Given the description of an element on the screen output the (x, y) to click on. 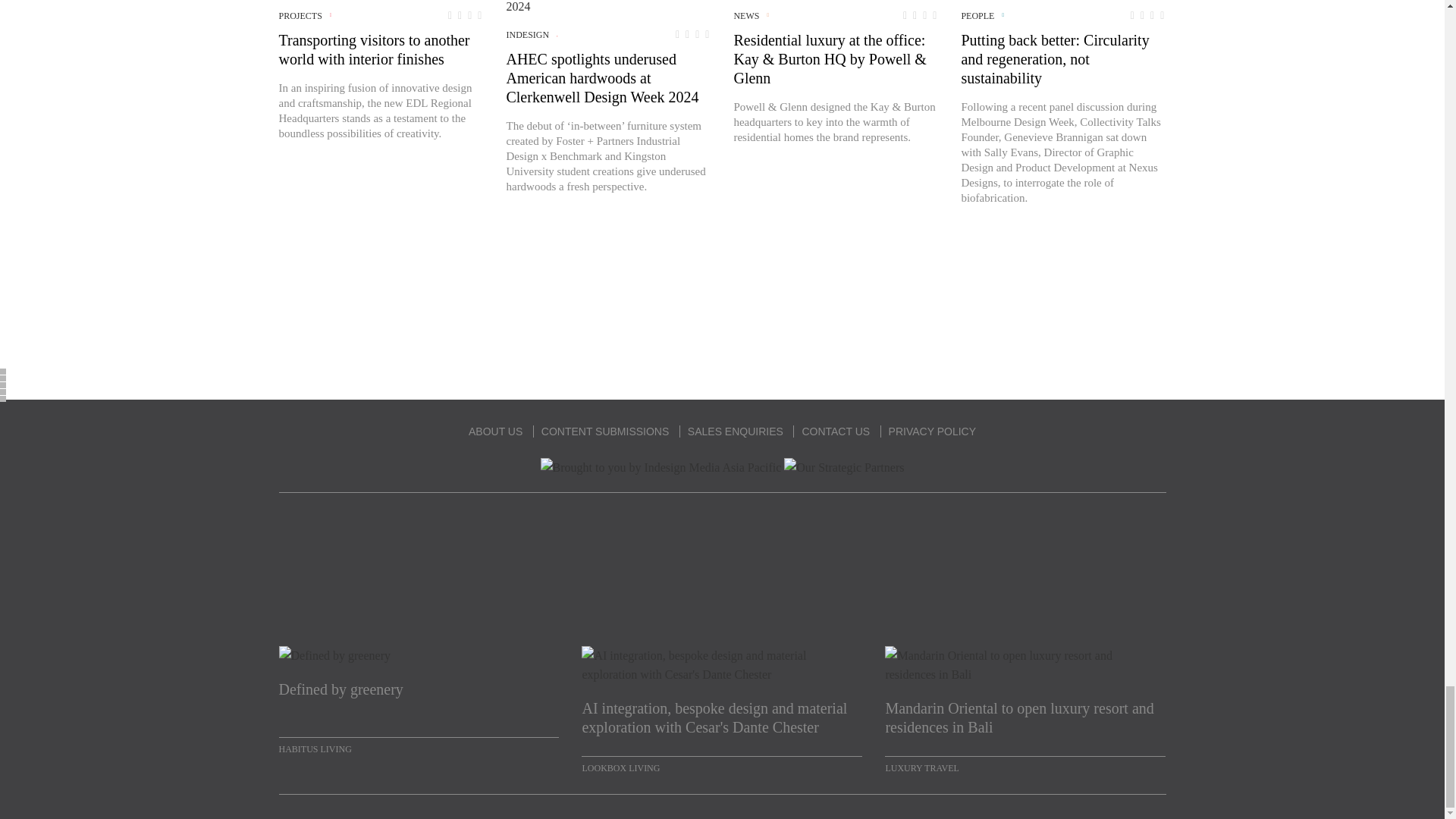
Our Strategic Partners (844, 466)
Brought to you by Indesign Media Asia Pacific (660, 466)
